Given the description of an element on the screen output the (x, y) to click on. 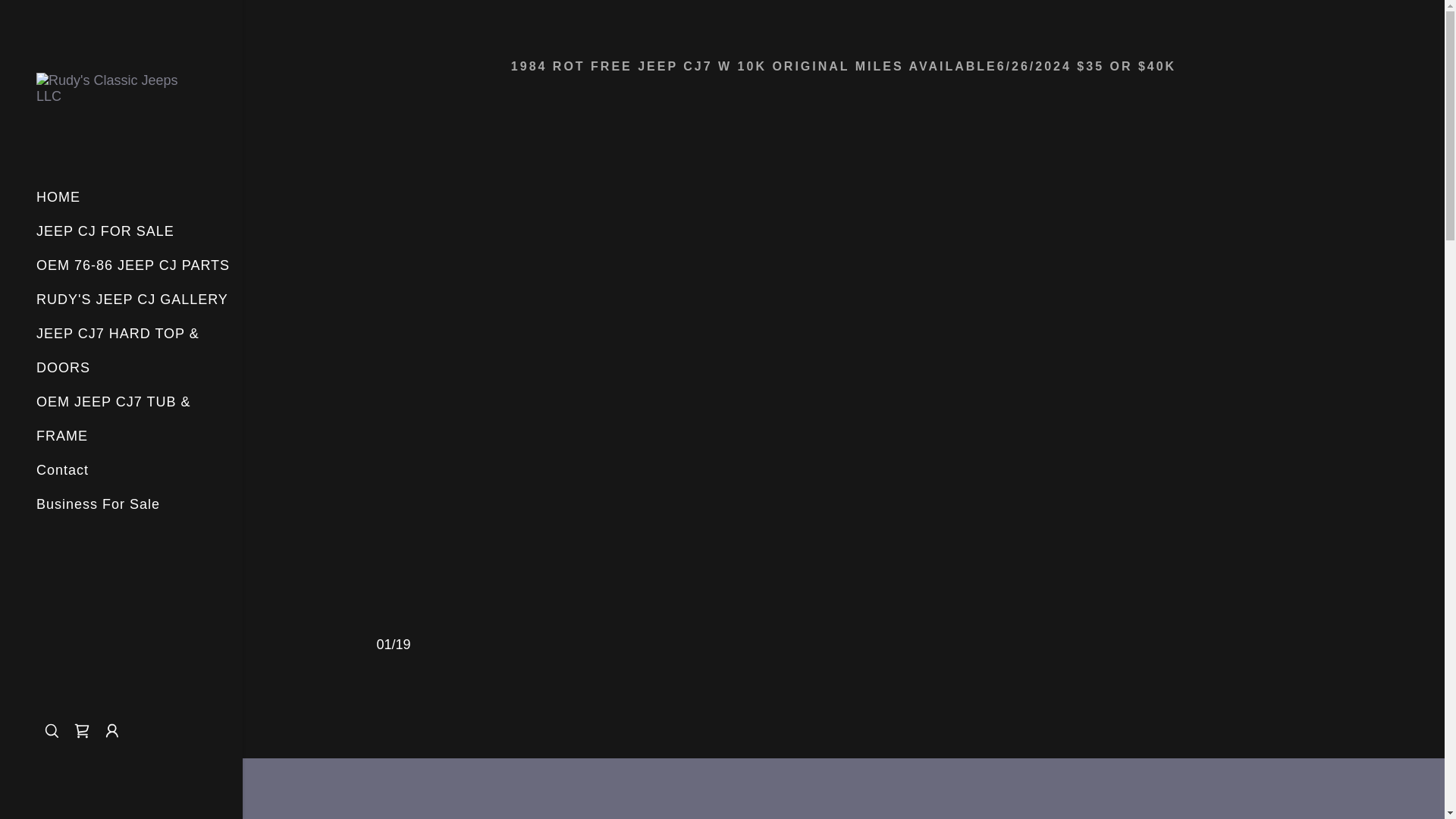
Business For Sale (98, 503)
Contact (62, 469)
OEM 76-86 JEEP CJ PARTS (133, 264)
JEEP CJ FOR SALE (105, 231)
RUDY'S JEEP CJ GALLERY (132, 299)
HOME (121, 87)
